Given the description of an element on the screen output the (x, y) to click on. 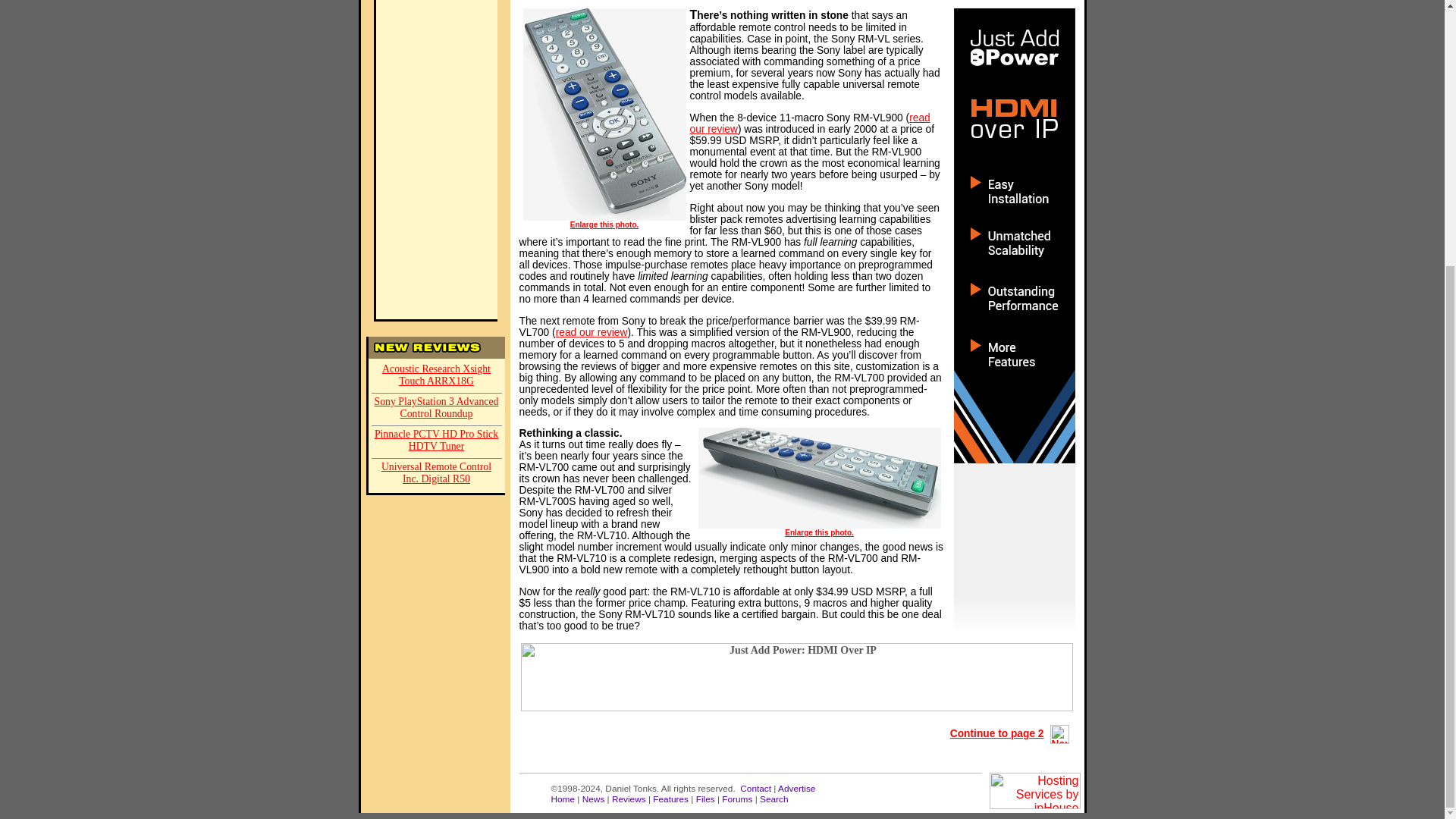
Continue to page 2 (1012, 733)
Just Add Power: HDMI Over IP (797, 676)
Sony PlayStation 3 Advanced Control Roundup (436, 409)
Universal Remote Control Inc. Digital R50 (436, 473)
read our review (591, 331)
Enlarge this photo. (604, 224)
read our review (810, 123)
Pinnacle PCTV HD Pro Stick HDTV Tuner (436, 441)
Acoustic Research Xsight Touch ARRX18G (436, 376)
Enlarge this photo. (818, 532)
Contact (755, 787)
